Given the description of an element on the screen output the (x, y) to click on. 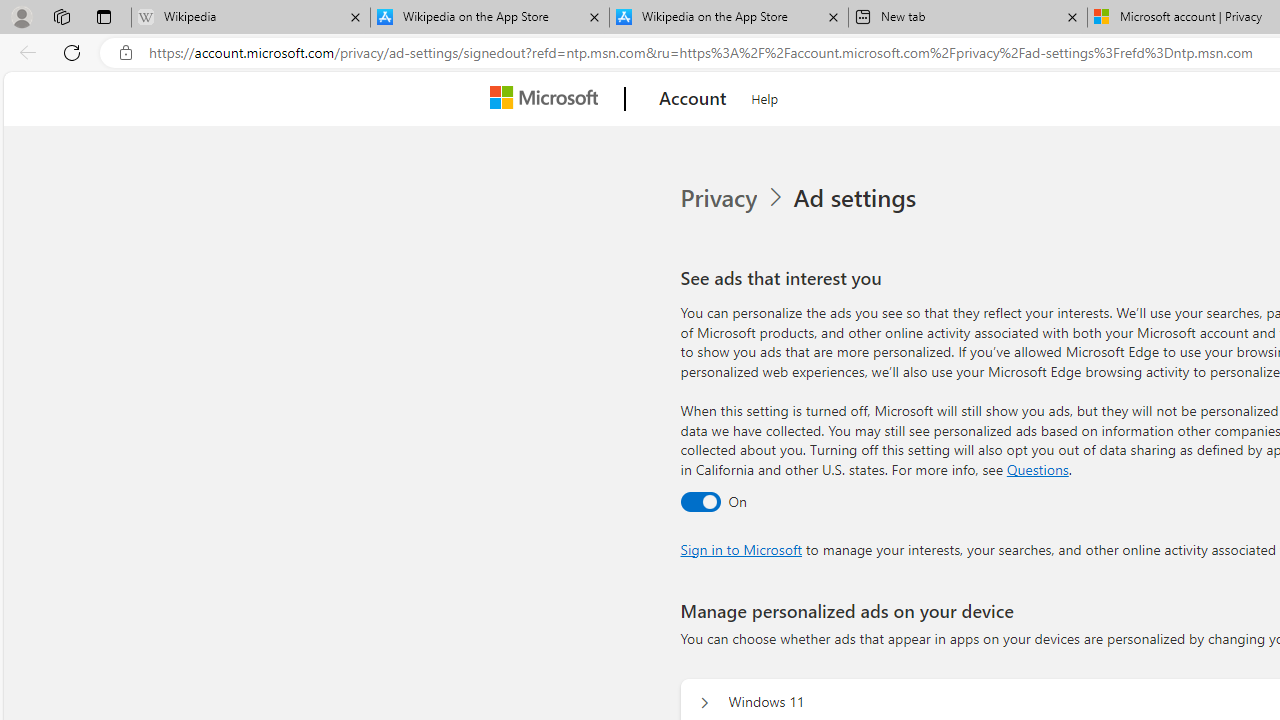
Account (692, 99)
Help (765, 96)
Manage personalized ads on your device Windows 11 (704, 702)
